Given the description of an element on the screen output the (x, y) to click on. 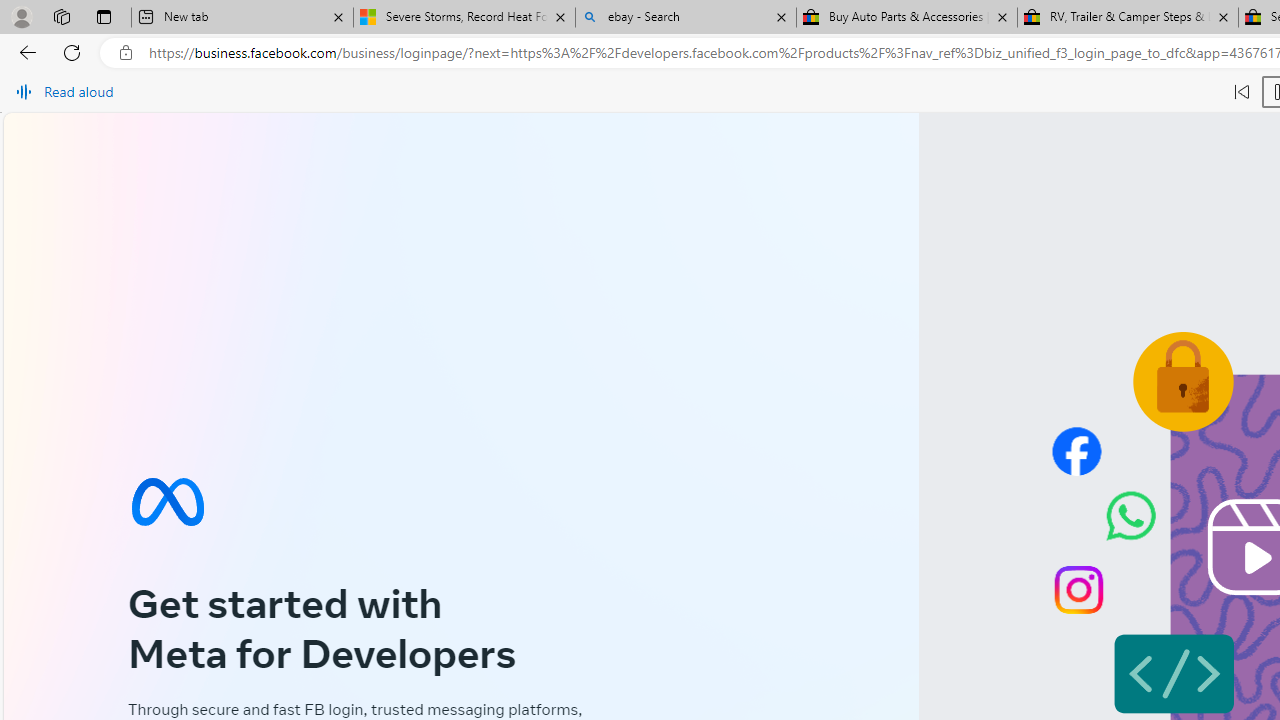
Buy Auto Parts & Accessories | eBay (907, 17)
Read previous paragraph (1241, 92)
Meta symbol (167, 502)
ebay - Search (686, 17)
RV, Trailer & Camper Steps & Ladders for sale | eBay (1127, 17)
